Given the description of an element on the screen output the (x, y) to click on. 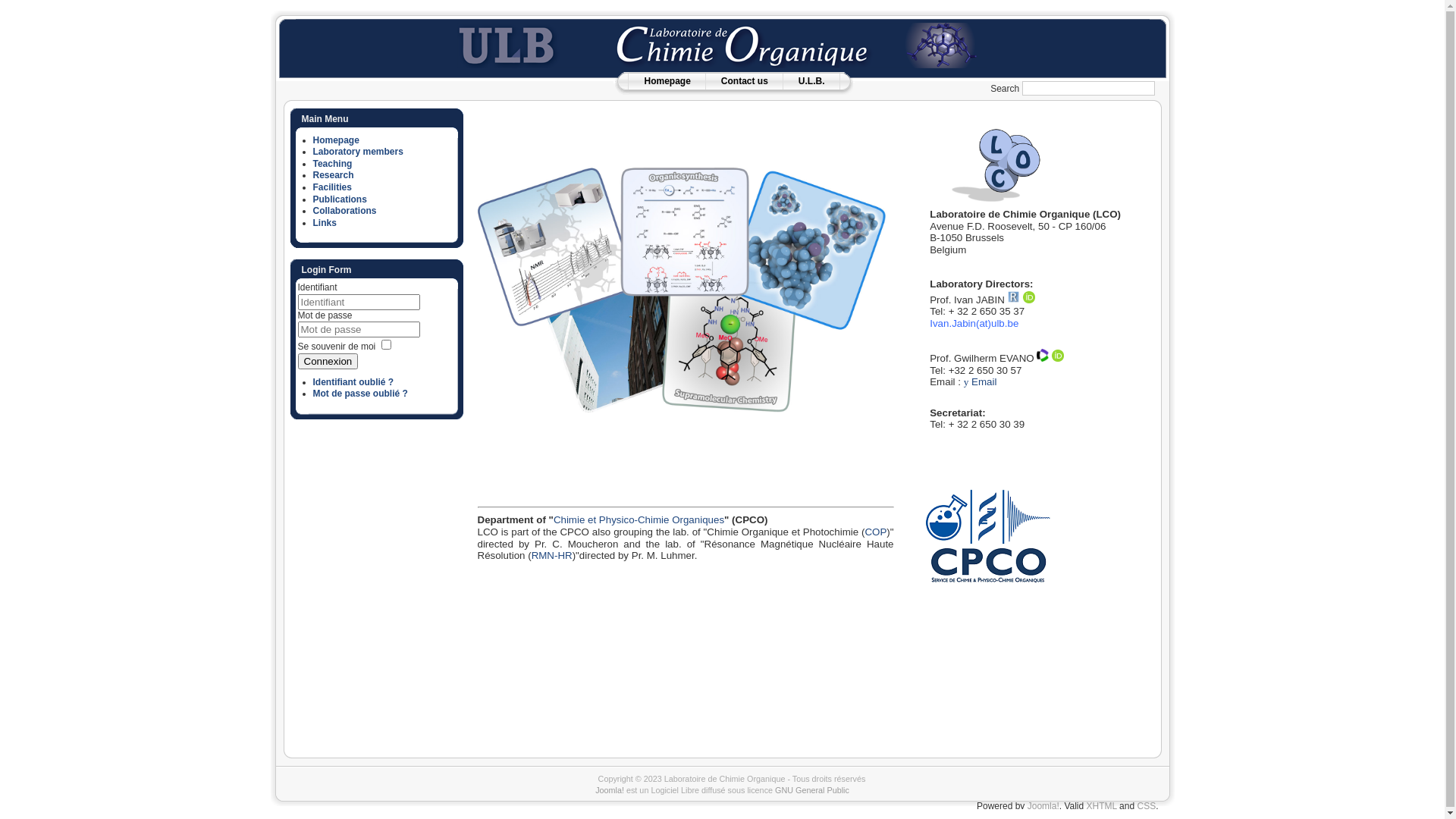
Homepage Element type: text (666, 81)
Facilities Element type: text (331, 187)
Teaching Element type: text (331, 163)
y Email Element type: text (980, 381)
Homepage Element type: text (335, 139)
GNU General Public Element type: text (812, 789)
Joomla! Element type: text (609, 789)
Contact us Element type: text (744, 81)
Laboratory members Element type: text (357, 151)
Joomla! Element type: text (1043, 805)
COP Element type: text (875, 531)
Logo LCO Element type: hover (995, 165)
CSS Element type: text (1145, 805)
U.L.B. Element type: text (811, 81)
Links Element type: text (323, 222)
Research Element type: text (332, 174)
Connexion Element type: text (327, 361)
Publications Element type: text (339, 199)
Collaborations Element type: text (344, 210)
RMN-HR Element type: text (551, 555)
Chimie et Physico-Chimie Organiques Element type: text (638, 519)
XHTML Element type: text (1101, 805)
